Given the description of an element on the screen output the (x, y) to click on. 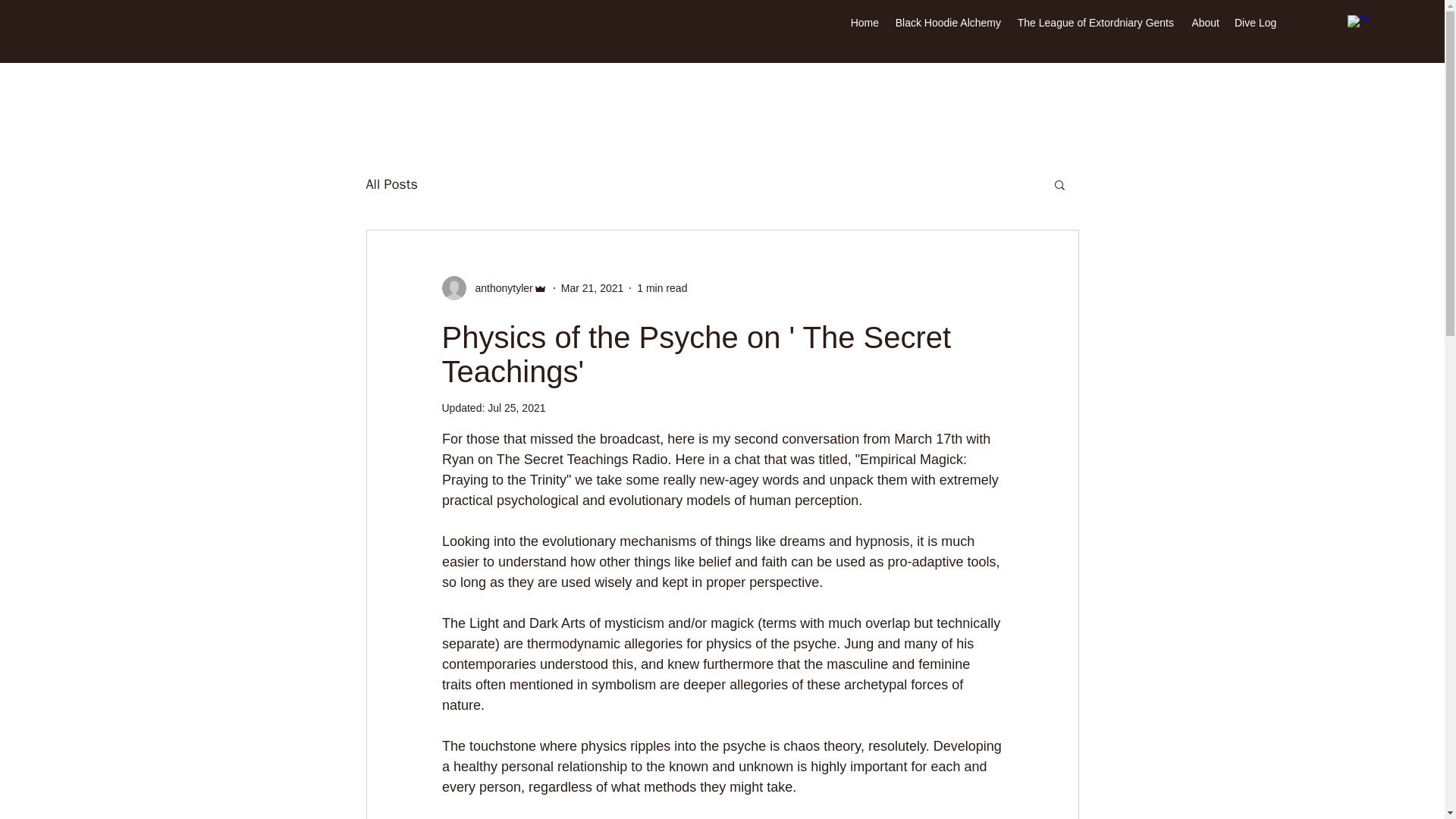
The League of Extordniary Gents (1094, 22)
Black Hoodie Alchemy (947, 22)
Dive Log (1255, 22)
About (1203, 22)
1 min read (662, 287)
anthonytyler (498, 288)
Mar 21, 2021 (592, 287)
anthonytyler (494, 288)
Jul 25, 2021 (515, 408)
Home (864, 22)
All Posts (390, 184)
